Given the description of an element on the screen output the (x, y) to click on. 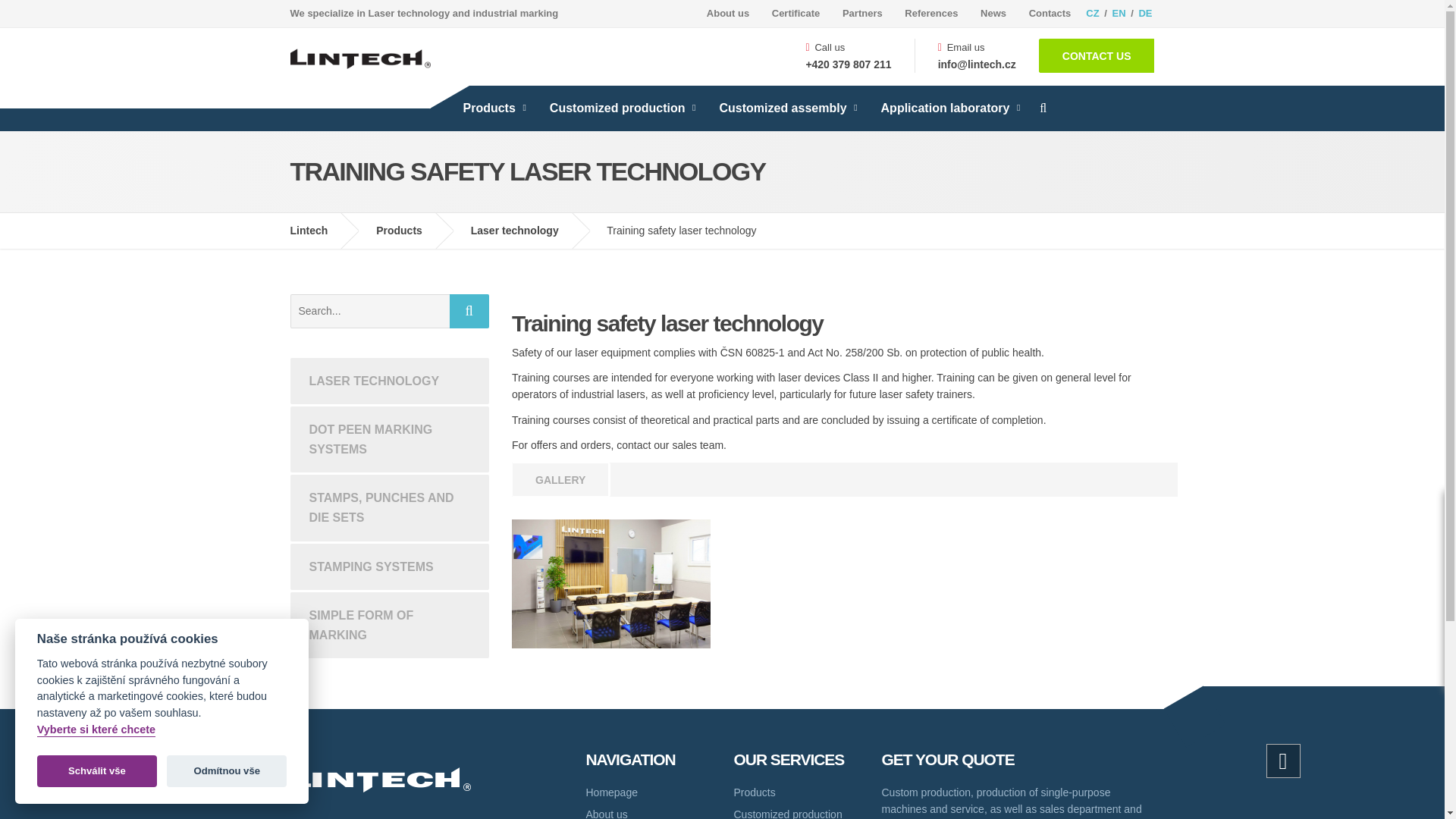
Certificate (795, 13)
About us (727, 13)
Products (410, 230)
CONTACT US (1096, 55)
News (993, 13)
References (931, 13)
Lintech (319, 230)
Partners (862, 13)
Contacts (1045, 13)
Products (491, 108)
Laser technology (525, 230)
Customized production (620, 108)
